Given the description of an element on the screen output the (x, y) to click on. 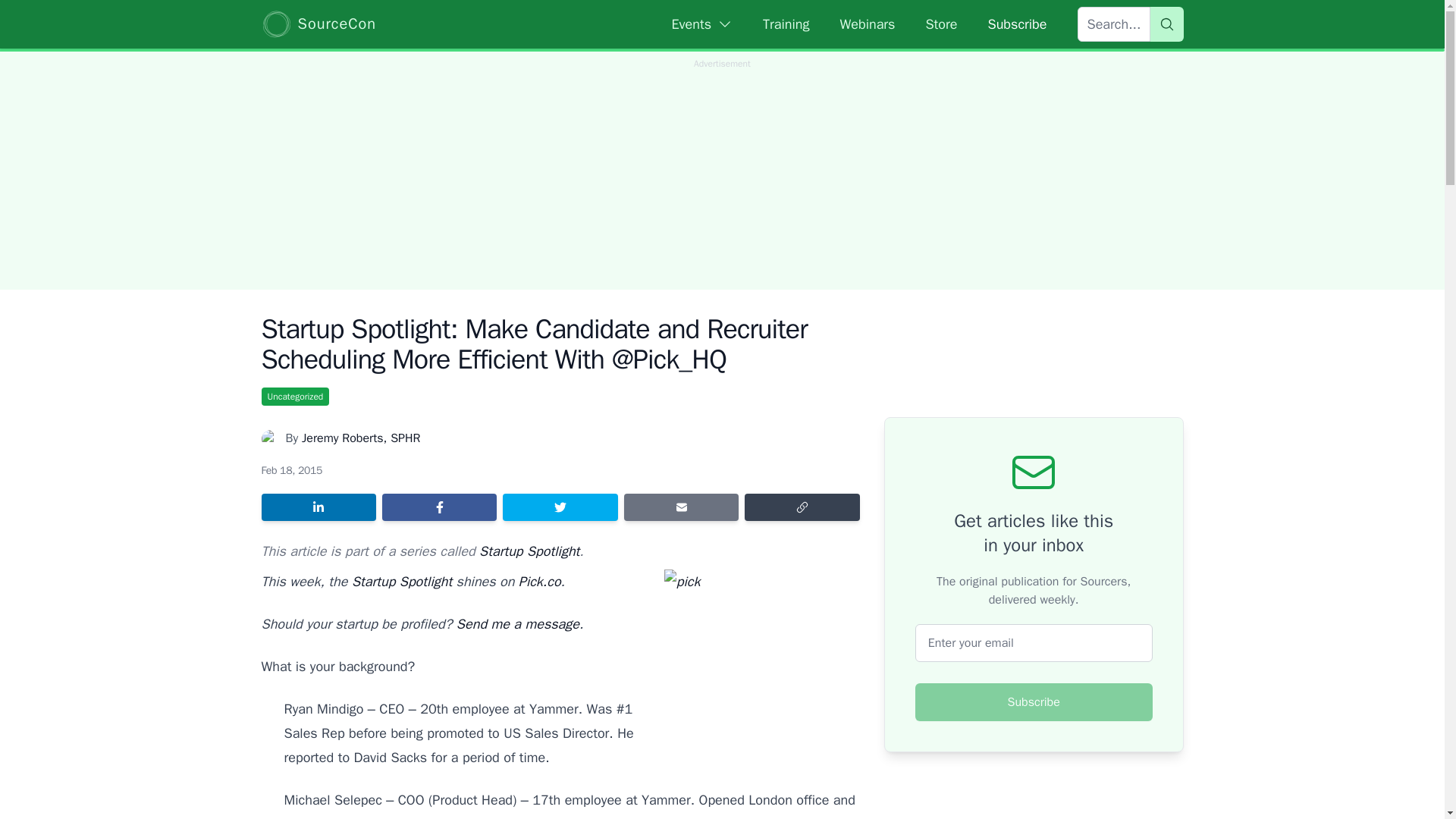
Jeremy Roberts, SPHR (360, 437)
Events (702, 24)
Send me a message (518, 623)
Pick.co (539, 581)
Startup Spotlight (401, 581)
Training (785, 24)
Uncategorized (294, 396)
Webinars (867, 24)
Startup Spotlight (529, 550)
Subscribe (1016, 24)
Subscribe (1034, 702)
Store (940, 24)
SourceCon (317, 24)
